Given the description of an element on the screen output the (x, y) to click on. 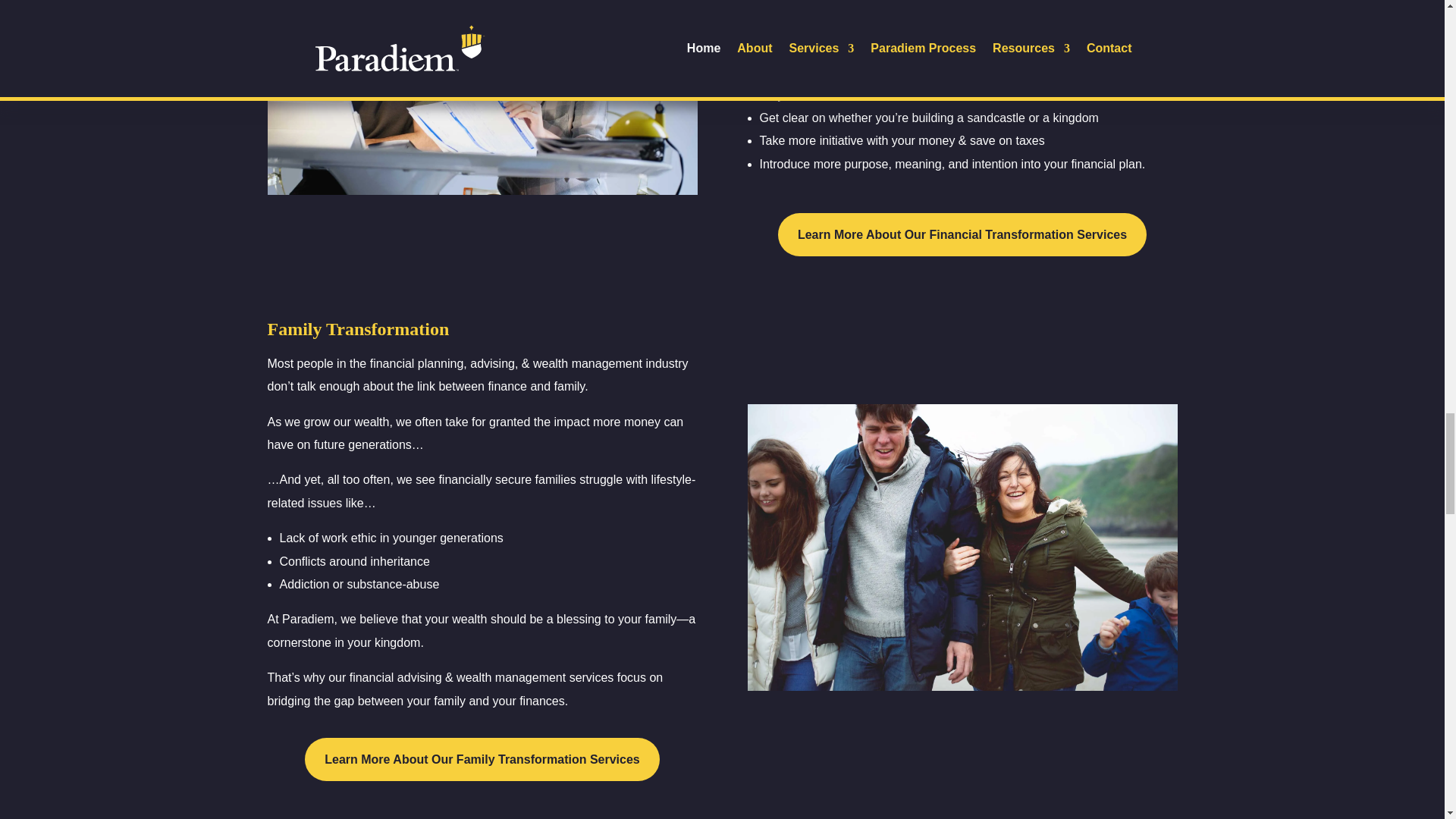
Family-Transformation (962, 547)
Financial-Transformation (481, 97)
